Given the description of an element on the screen output the (x, y) to click on. 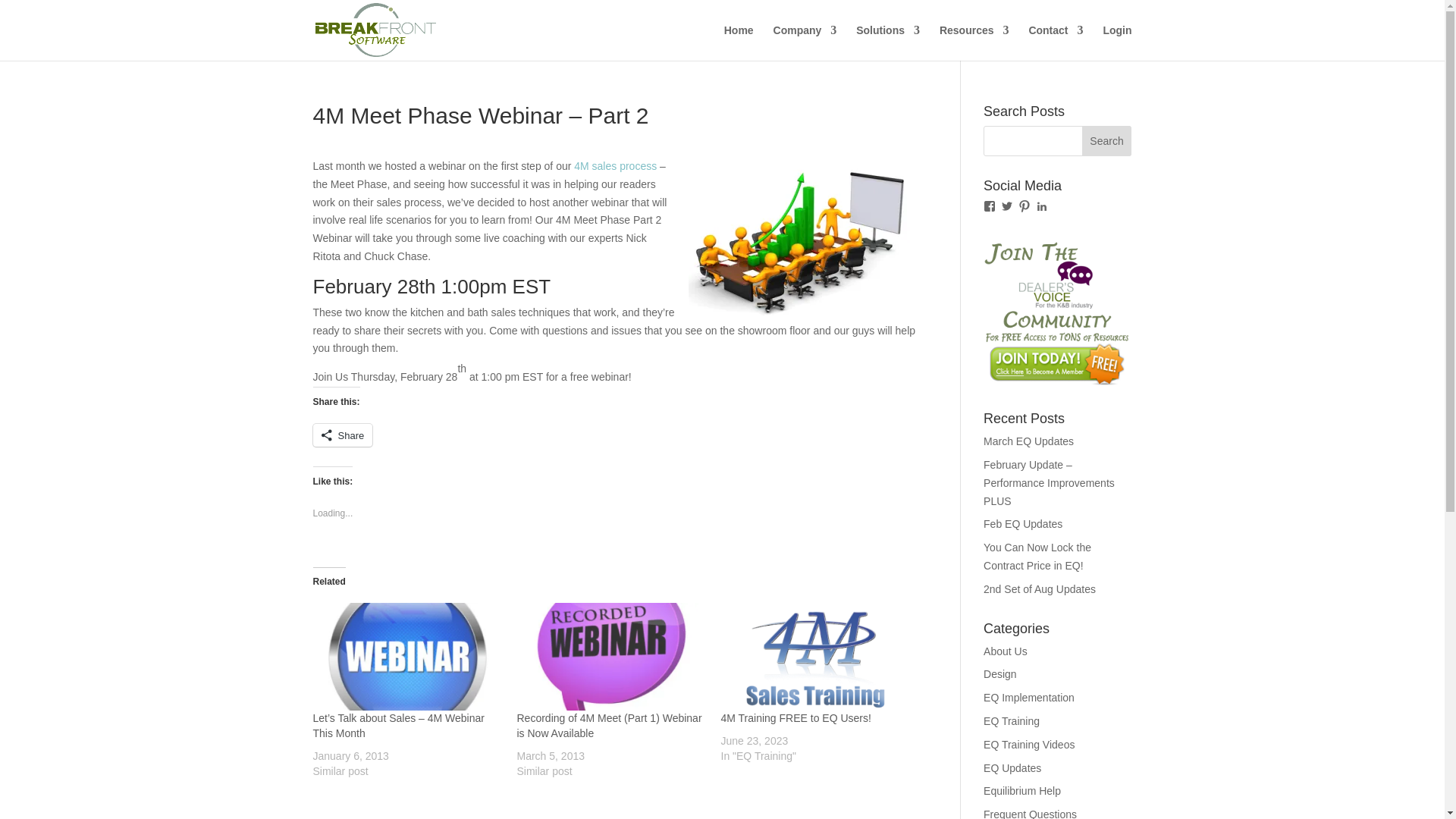
Contact (1055, 42)
Home (738, 42)
Login (1116, 42)
4M Training FREE to EQ Users! (795, 717)
Company (805, 42)
LinkedIn (1041, 205)
4M sales process (614, 165)
Solutions (888, 42)
4M Training FREE to EQ Users! (814, 656)
Resources (974, 42)
Search (1106, 141)
Share (342, 435)
Search (1106, 141)
4M Training FREE to EQ Users! (795, 717)
4M sales process (614, 165)
